Given the description of an element on the screen output the (x, y) to click on. 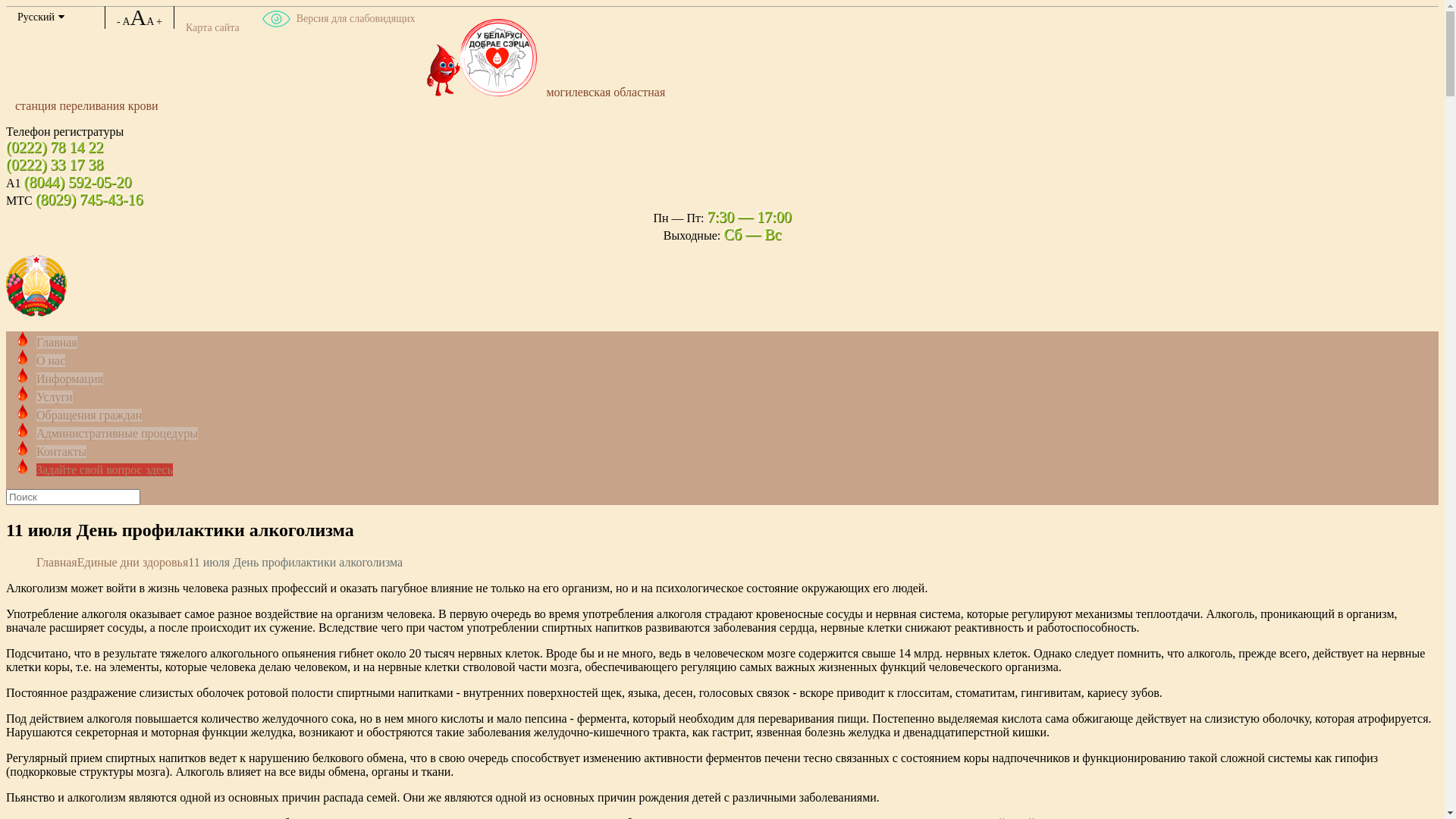
- Element type: text (118, 21)
+ Element type: text (159, 21)
AAA Element type: text (137, 21)
